Given the description of an element on the screen output the (x, y) to click on. 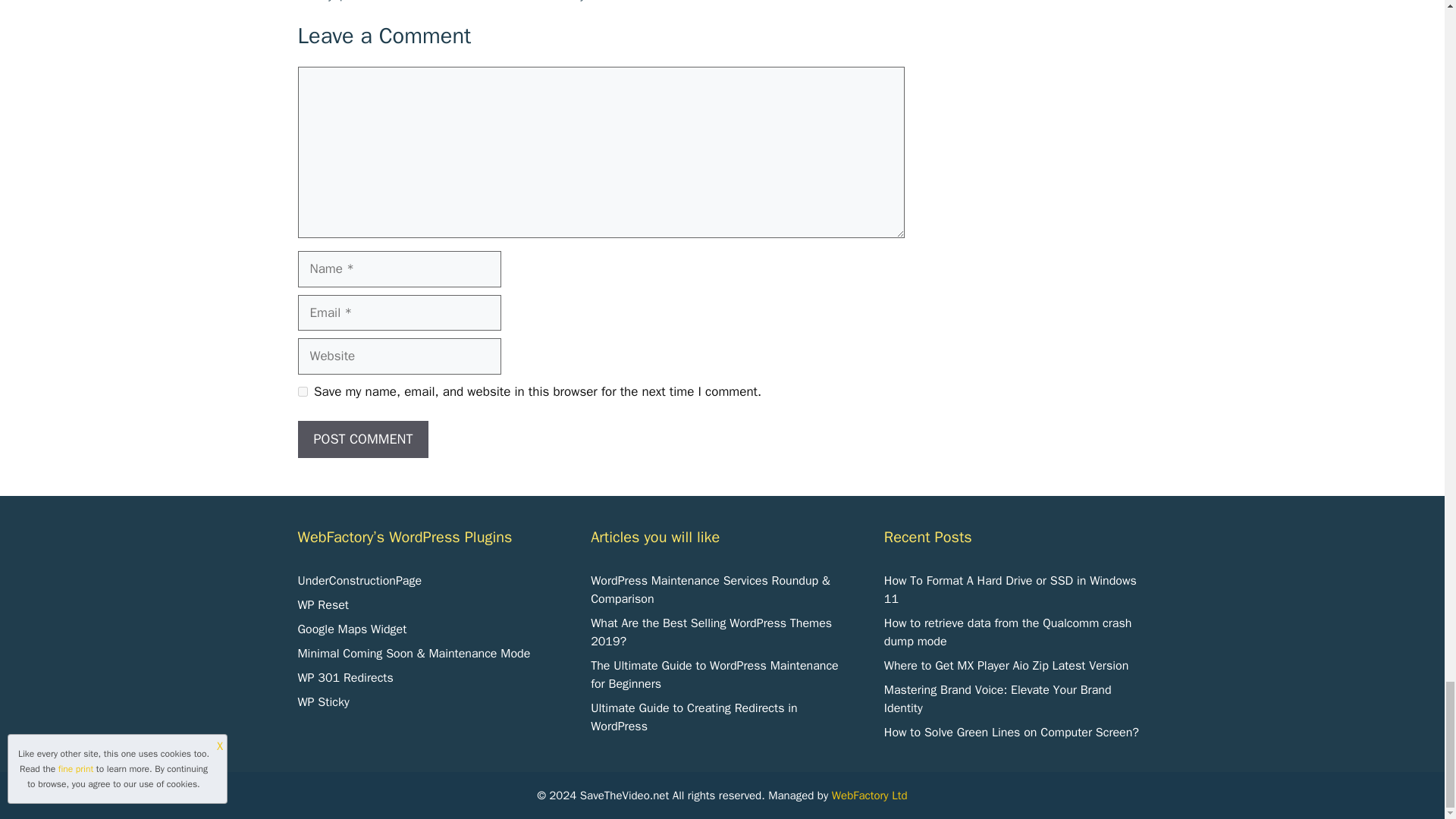
Post Comment (362, 438)
UnderConstructionPage (359, 580)
WP Reset (322, 604)
WP 301 Redirects (345, 677)
Google Maps Widget (351, 629)
What Are the Best Selling WordPress Themes 2019? (711, 632)
WP Sticky (323, 702)
yes (302, 391)
Post Comment (362, 438)
